Given the description of an element on the screen output the (x, y) to click on. 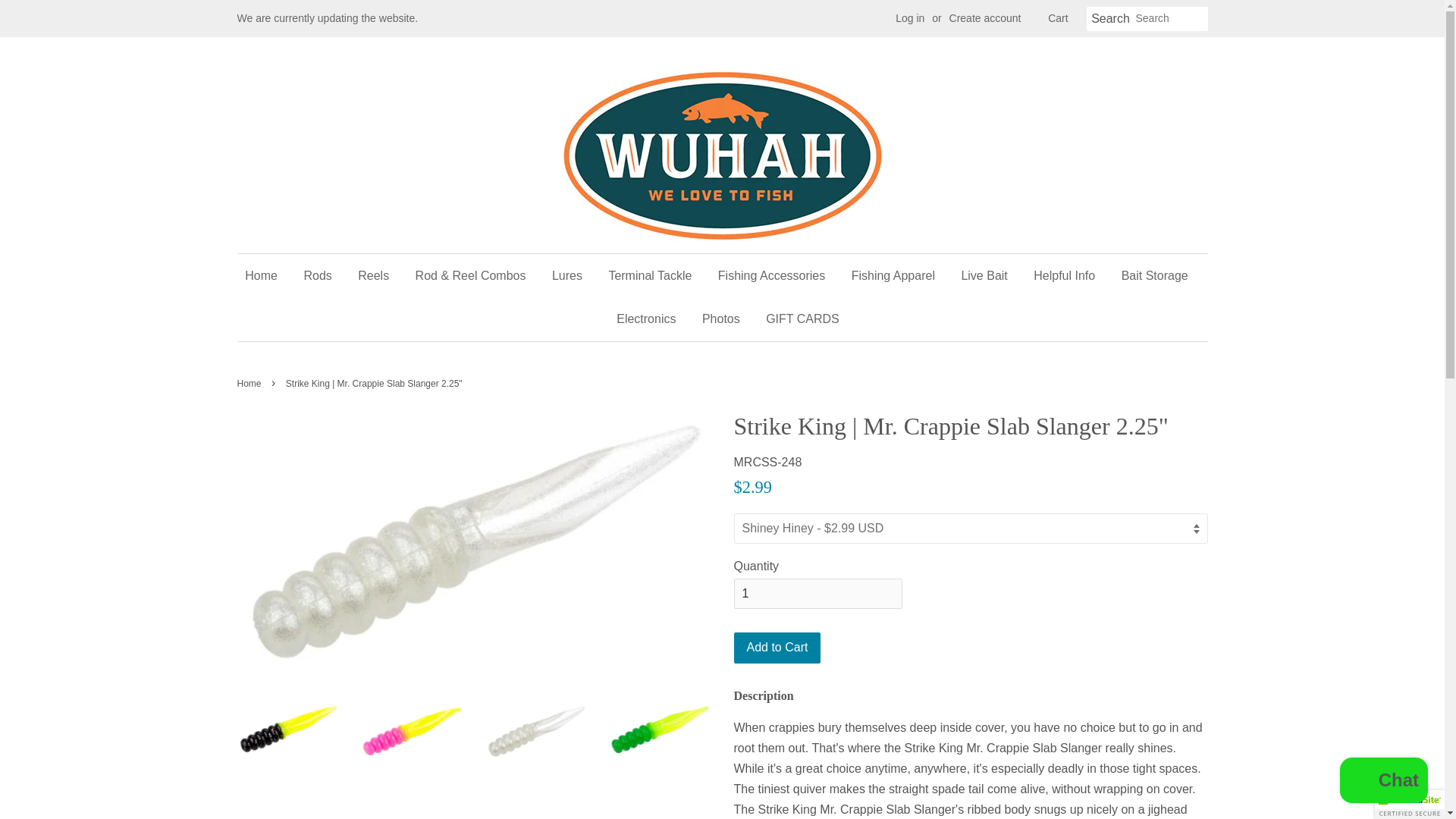
Create account (985, 18)
Cart (1057, 18)
Back to the frontpage (249, 383)
1 (817, 593)
Shopify online store chat (1383, 781)
Search (1110, 18)
Log in (909, 18)
